Given the description of an element on the screen output the (x, y) to click on. 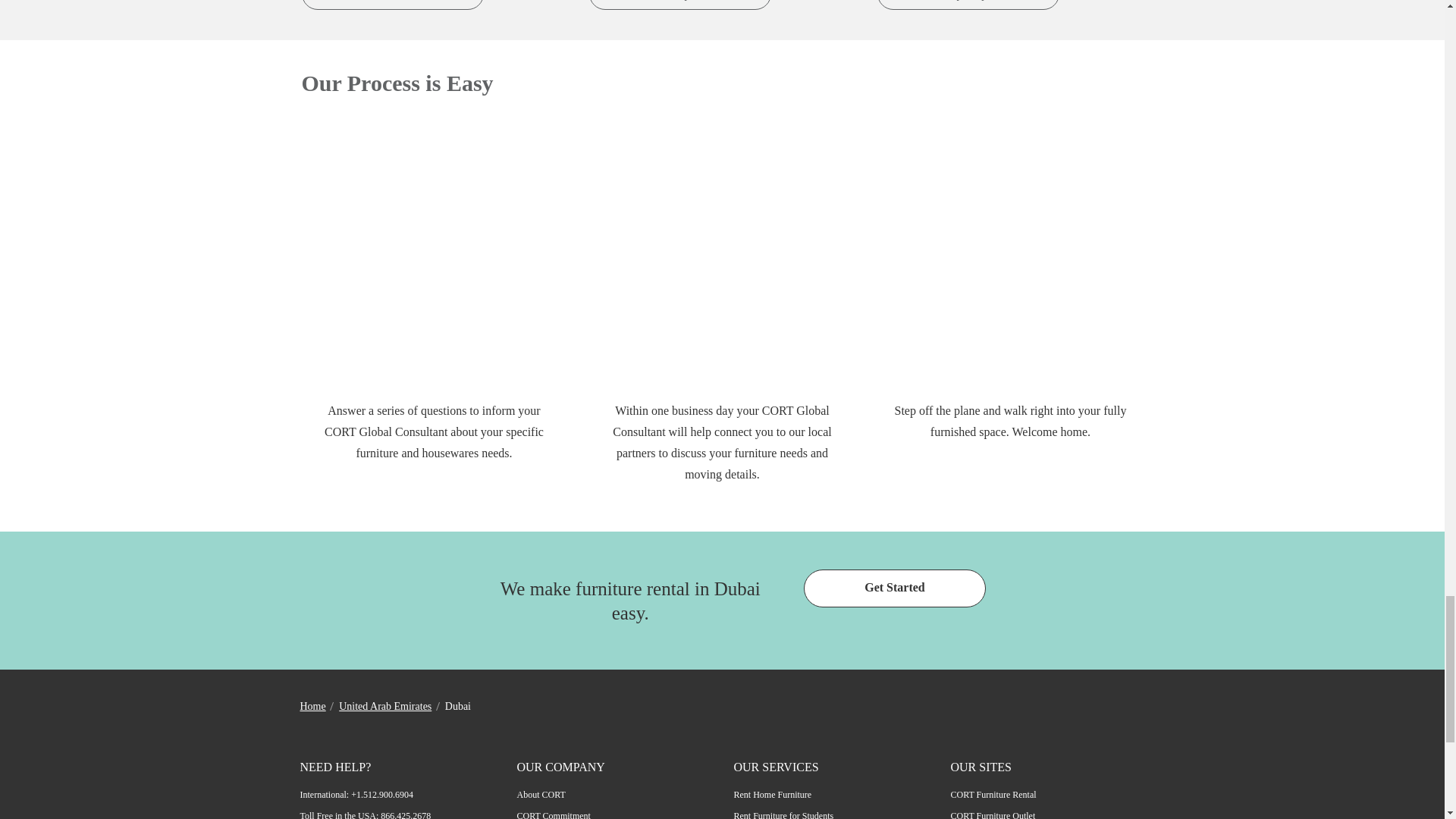
Dubai (392, 5)
Get Started (894, 588)
United Arab Emirates (384, 706)
Tokyo (680, 5)
Sydney (968, 4)
Home (312, 706)
